Given the description of an element on the screen output the (x, y) to click on. 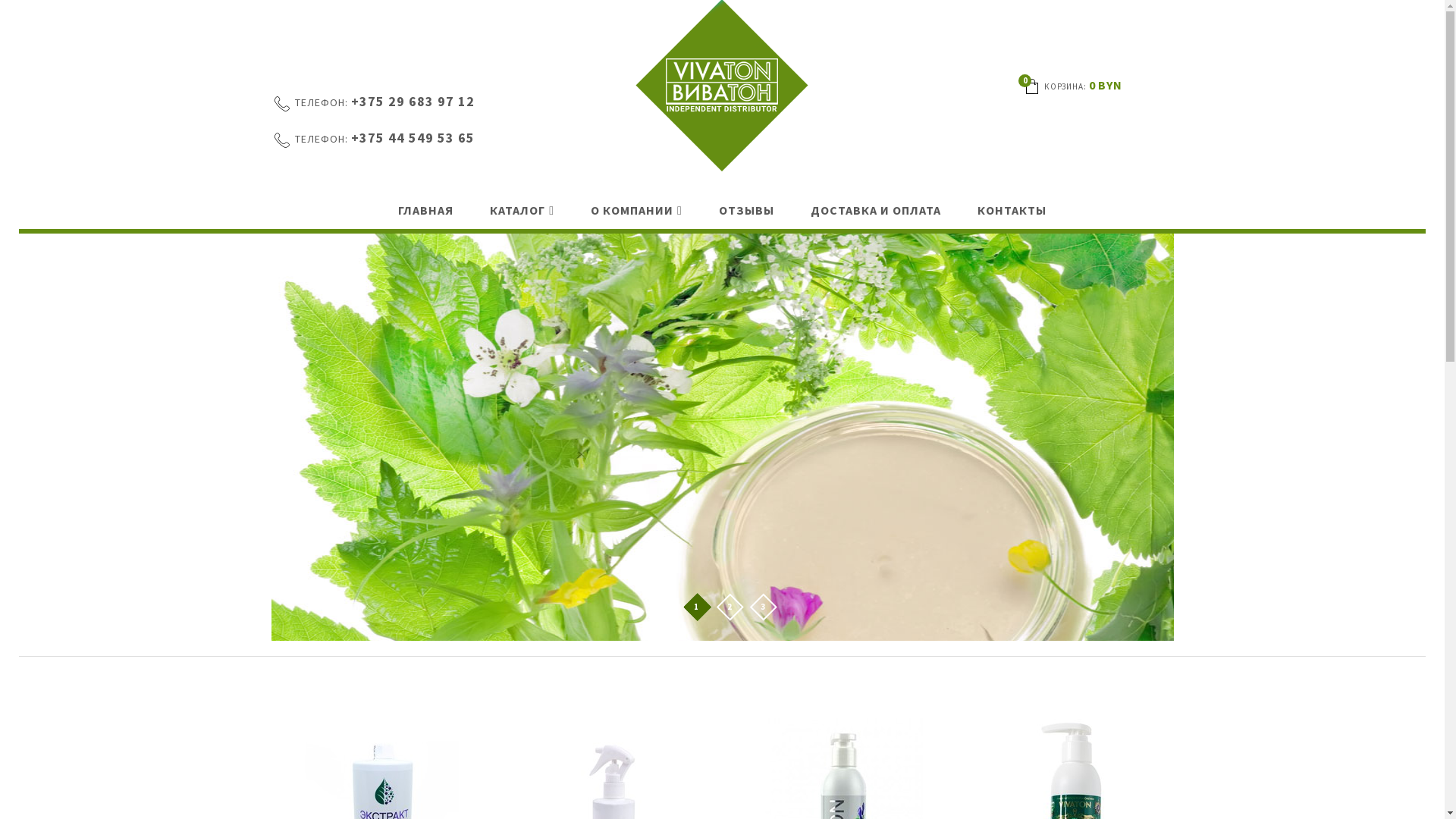
2 Element type: text (729, 608)
3 Element type: text (762, 608)
1 Element type: text (695, 608)
